Given the description of an element on the screen output the (x, y) to click on. 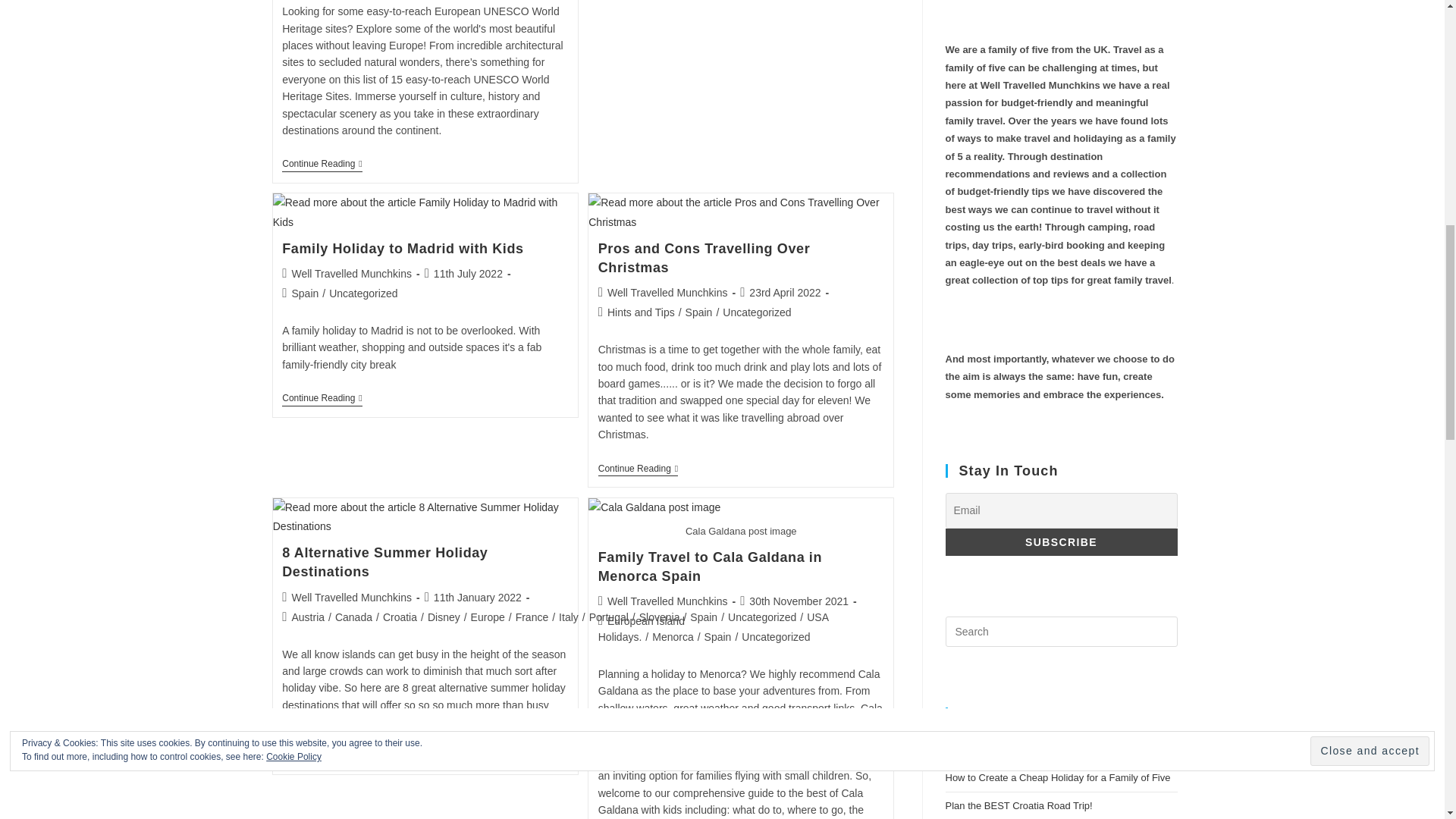
Posts by Well Travelled Munchkins (350, 597)
Subscribe (1060, 542)
Posts by Well Travelled Munchkins (350, 273)
Posts by Well Travelled Munchkins (666, 292)
Posts by Well Travelled Munchkins (666, 601)
